Given the description of an element on the screen output the (x, y) to click on. 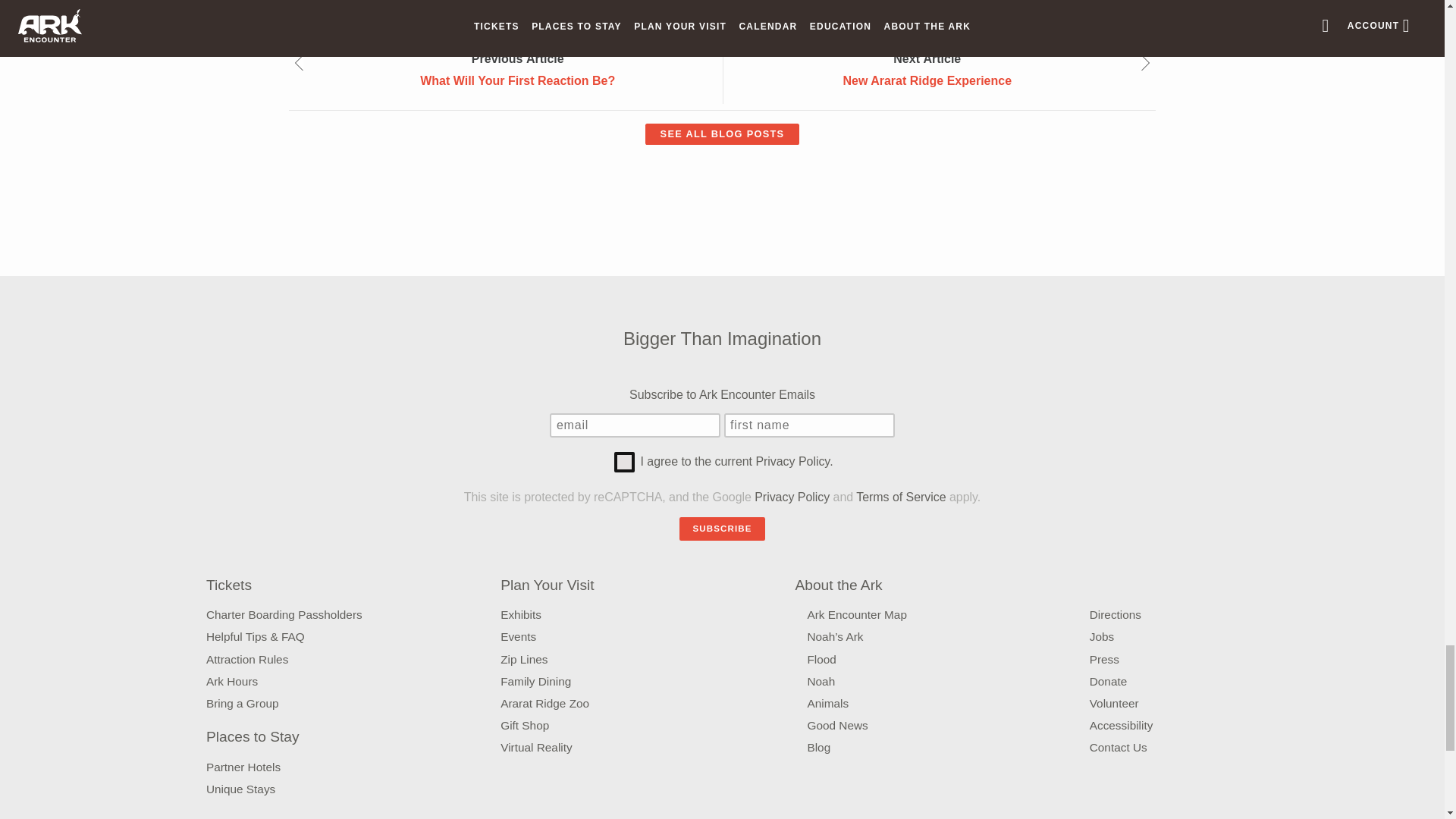
SEE ALL BLOG POSTS (721, 132)
Privacy Policy (791, 496)
Terms of Service (517, 70)
planning your trip (900, 496)
SEE ALL BLOG POSTS (368, 5)
Privacy Policy (721, 133)
